Given the description of an element on the screen output the (x, y) to click on. 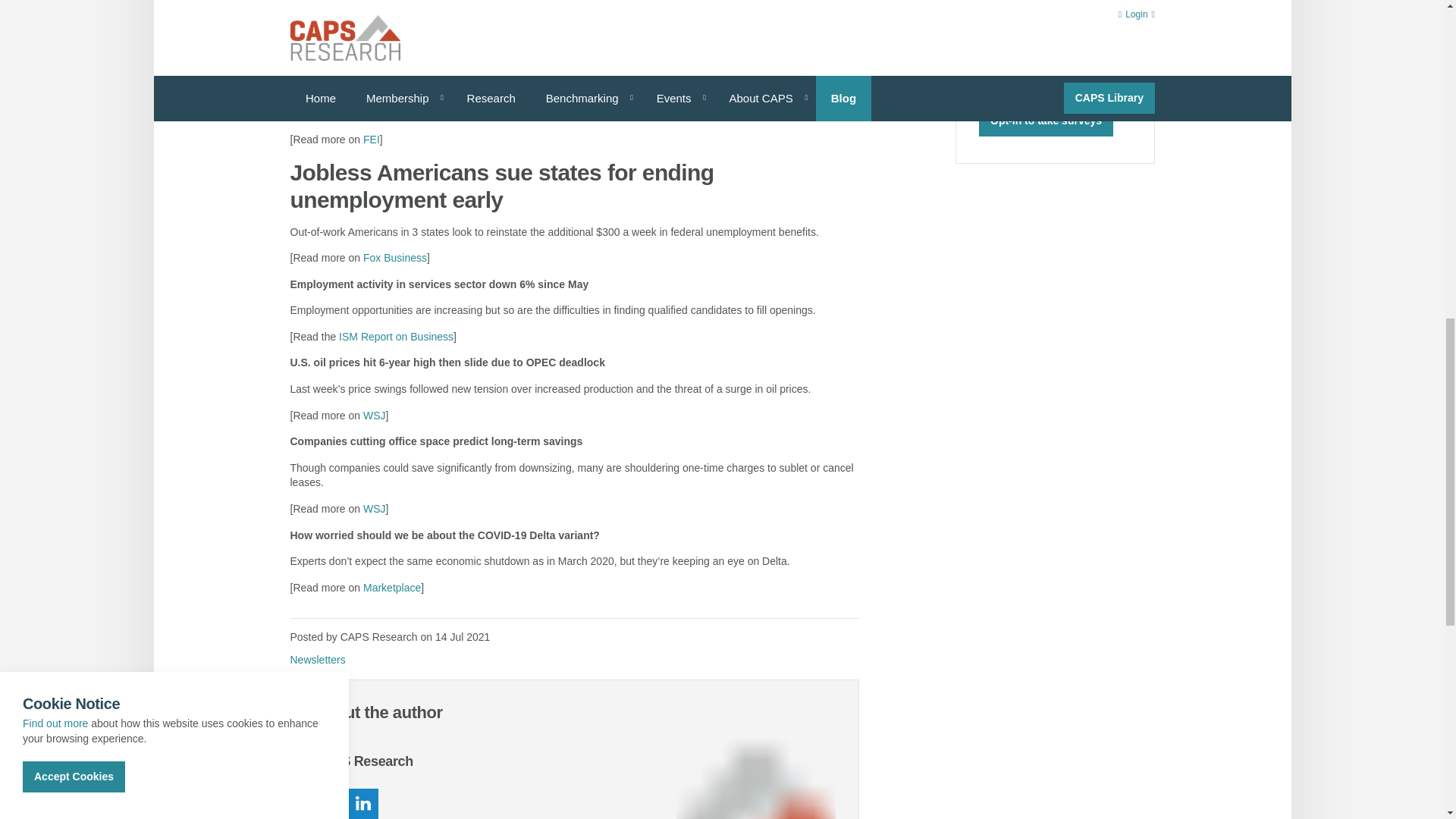
FEI (371, 139)
WSJ (373, 415)
CAPS Library (424, 6)
Newsletters (317, 659)
Newsletters (317, 659)
Marketplace (391, 587)
Companies cutting office space predict long-term savings (373, 508)
How worried should we be about the COVID-19 Delta variant? (391, 587)
ISM ROB (395, 336)
Fox Business (394, 257)
CAPS Library account (424, 6)
ISM Report on Business (395, 336)
WSJ (373, 508)
